Given the description of an element on the screen output the (x, y) to click on. 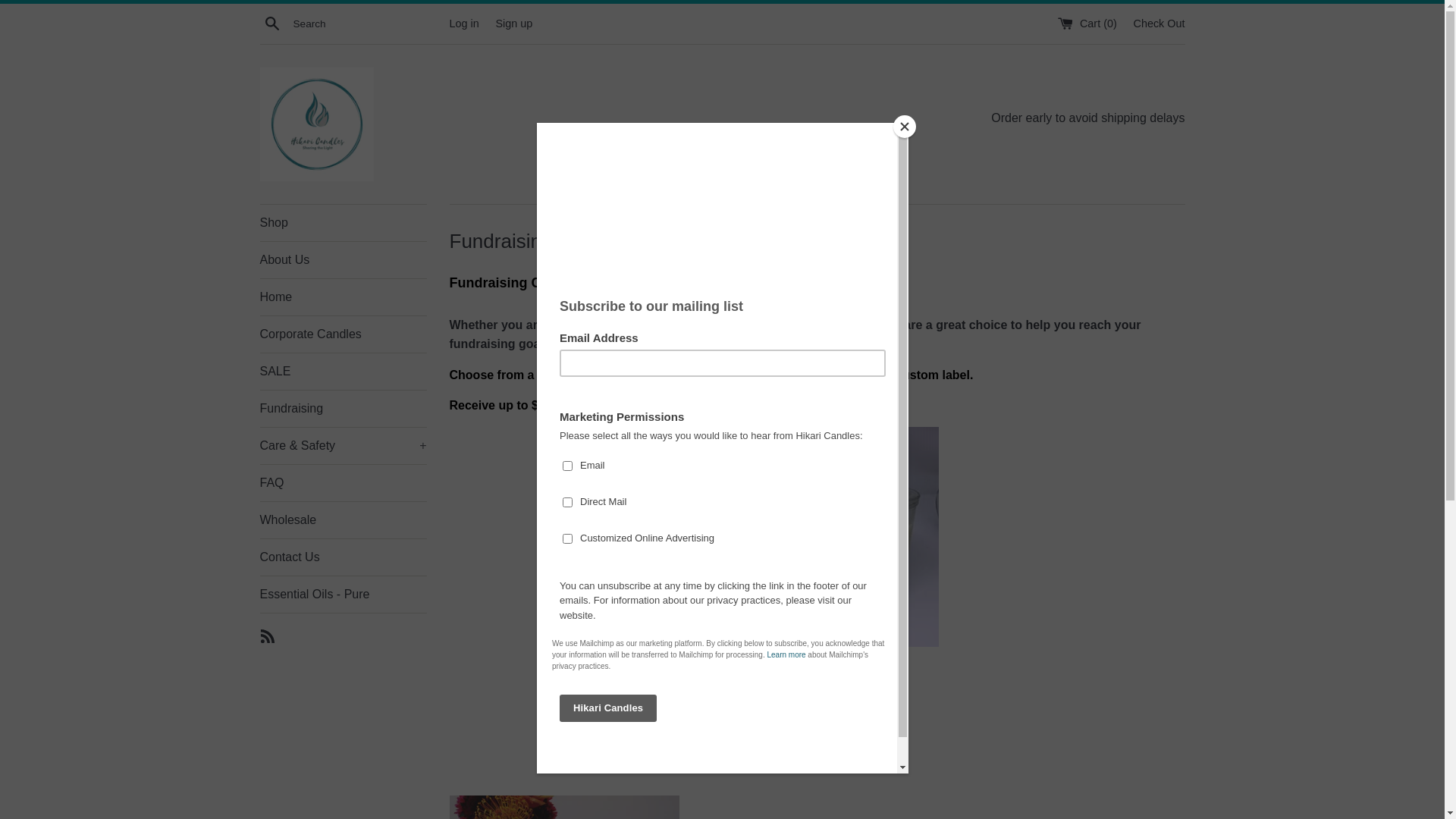
Essential Oils - Pure Element type: text (342, 594)
Contact Us Element type: text (342, 557)
Home Element type: text (342, 297)
Check Out Element type: text (1159, 22)
Shop Element type: text (342, 222)
Log in Element type: text (463, 22)
Cart (0) Element type: text (1088, 22)
About Us Element type: text (342, 259)
Corporate Candles Element type: text (342, 334)
Sign up Element type: text (513, 22)
Search Element type: text (271, 22)
Blog Element type: text (266, 634)
Wholesale Element type: text (342, 520)
SALE Element type: text (342, 371)
Care & Safety
+ Element type: text (342, 445)
Fundraising Element type: text (342, 408)
FAQ Element type: text (342, 482)
